Given the description of an element on the screen output the (x, y) to click on. 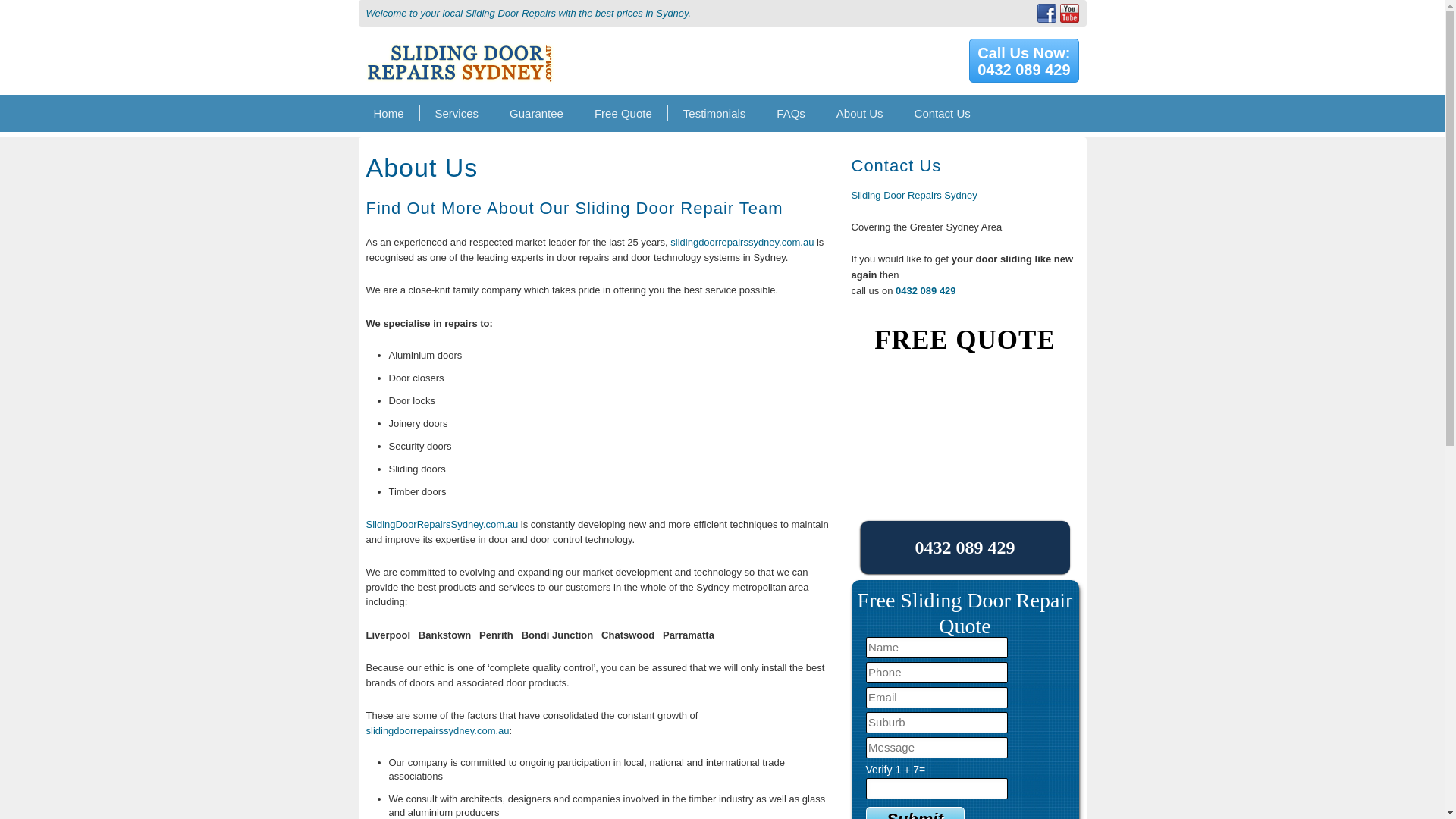
Submit (914, 812)
Contact Us (942, 113)
FAQs (791, 113)
slidingdoorrepairssydney.com.au (741, 242)
SlidingDoorRepairsSydney.com.au (441, 523)
Testimonials (714, 113)
Home (1023, 60)
Services (388, 113)
Sliding Door Repairs Sydney (457, 113)
About Us (459, 41)
Submit (860, 113)
slidingdoorrepairssydney.com.au (914, 812)
Free Quote (436, 730)
0432 089 429 (623, 113)
